Given the description of an element on the screen output the (x, y) to click on. 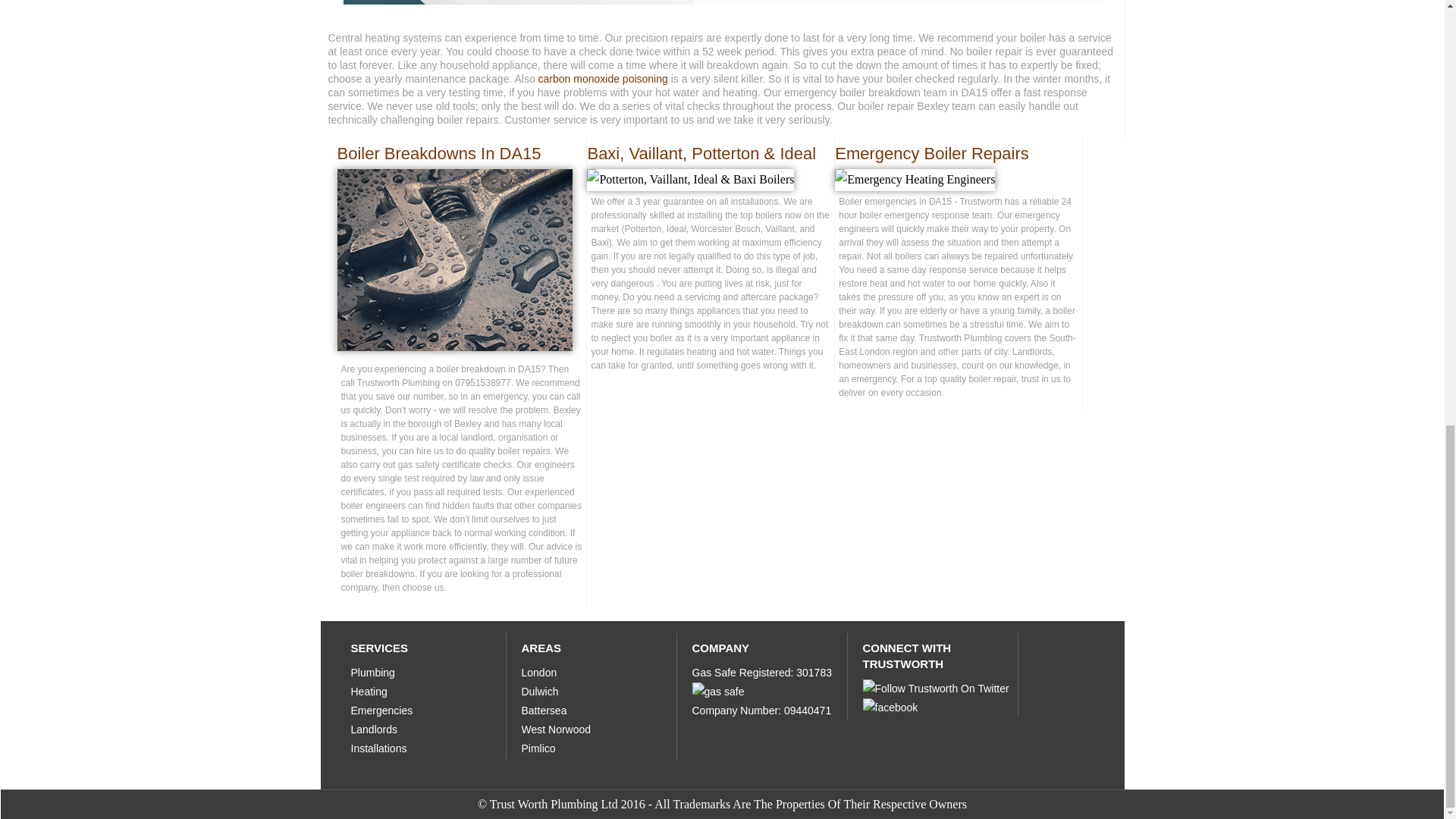
West Norwood (556, 729)
Follow Trustworth On Twitter (936, 688)
Heating (368, 691)
Plumbing (372, 672)
Battersea (544, 710)
carbon monoxide poisoning (603, 78)
London (539, 672)
facebook (890, 707)
Emergencies (381, 710)
Installations (378, 748)
